Given the description of an element on the screen output the (x, y) to click on. 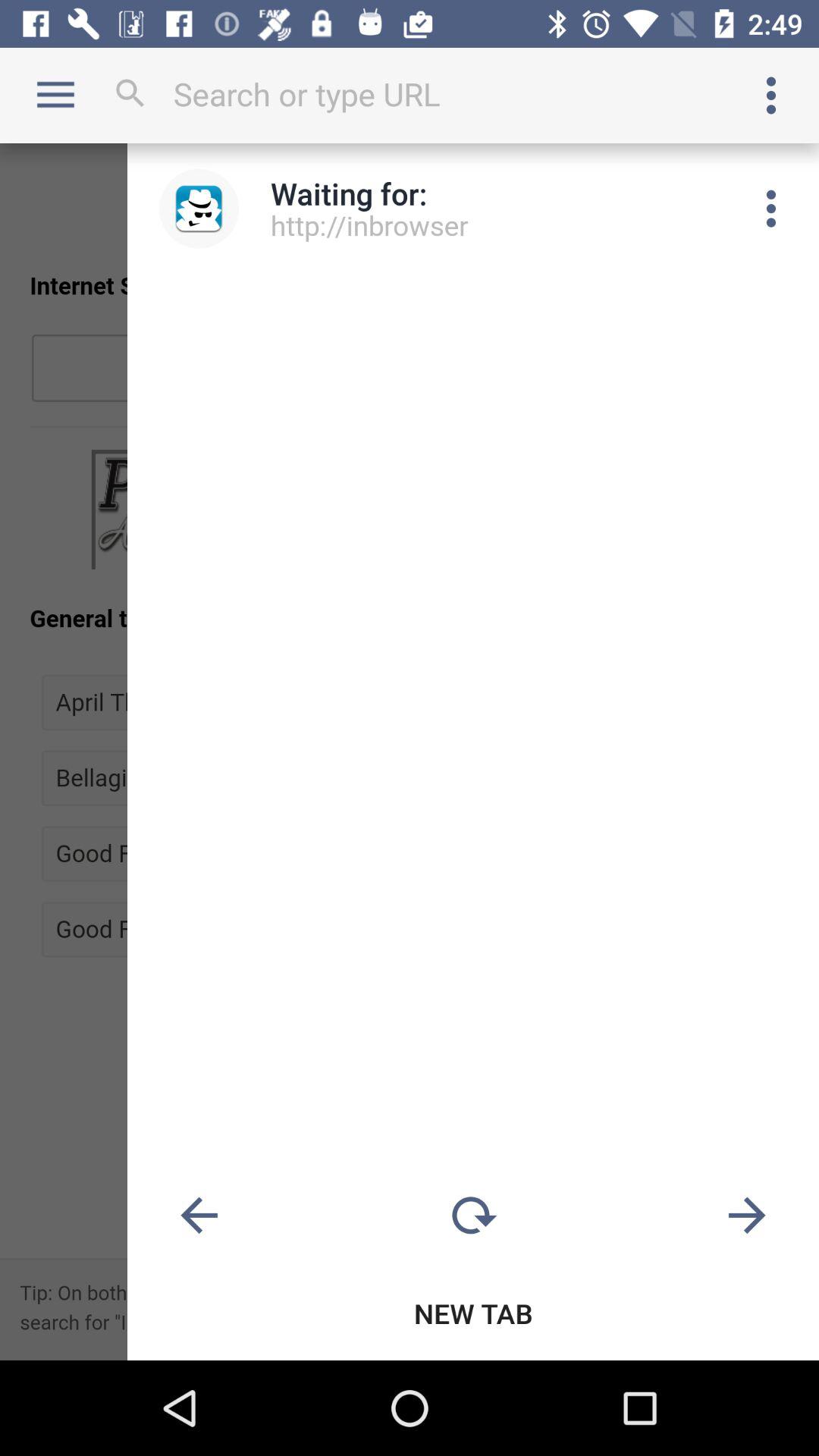
open options (771, 95)
